Given the description of an element on the screen output the (x, y) to click on. 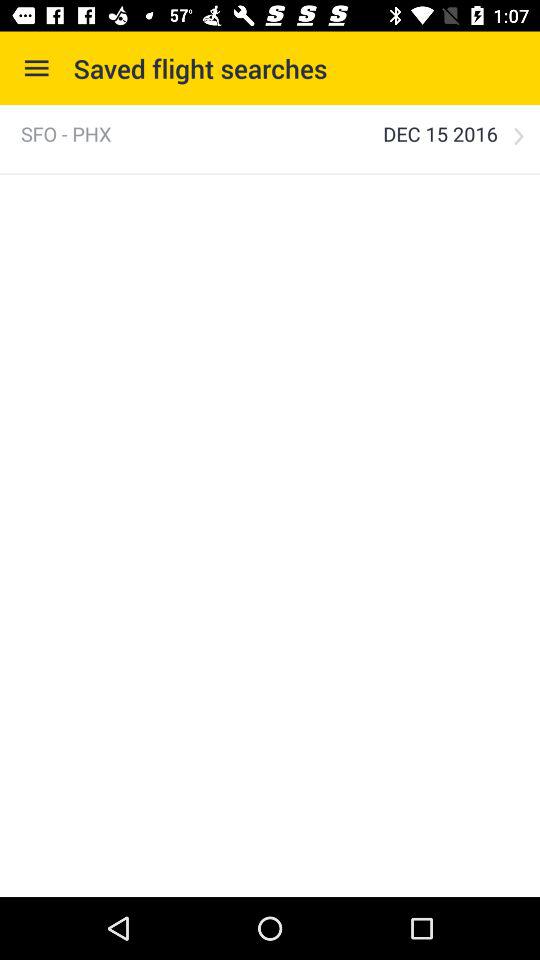
select icon next to the saved flight searches (36, 68)
